Given the description of an element on the screen output the (x, y) to click on. 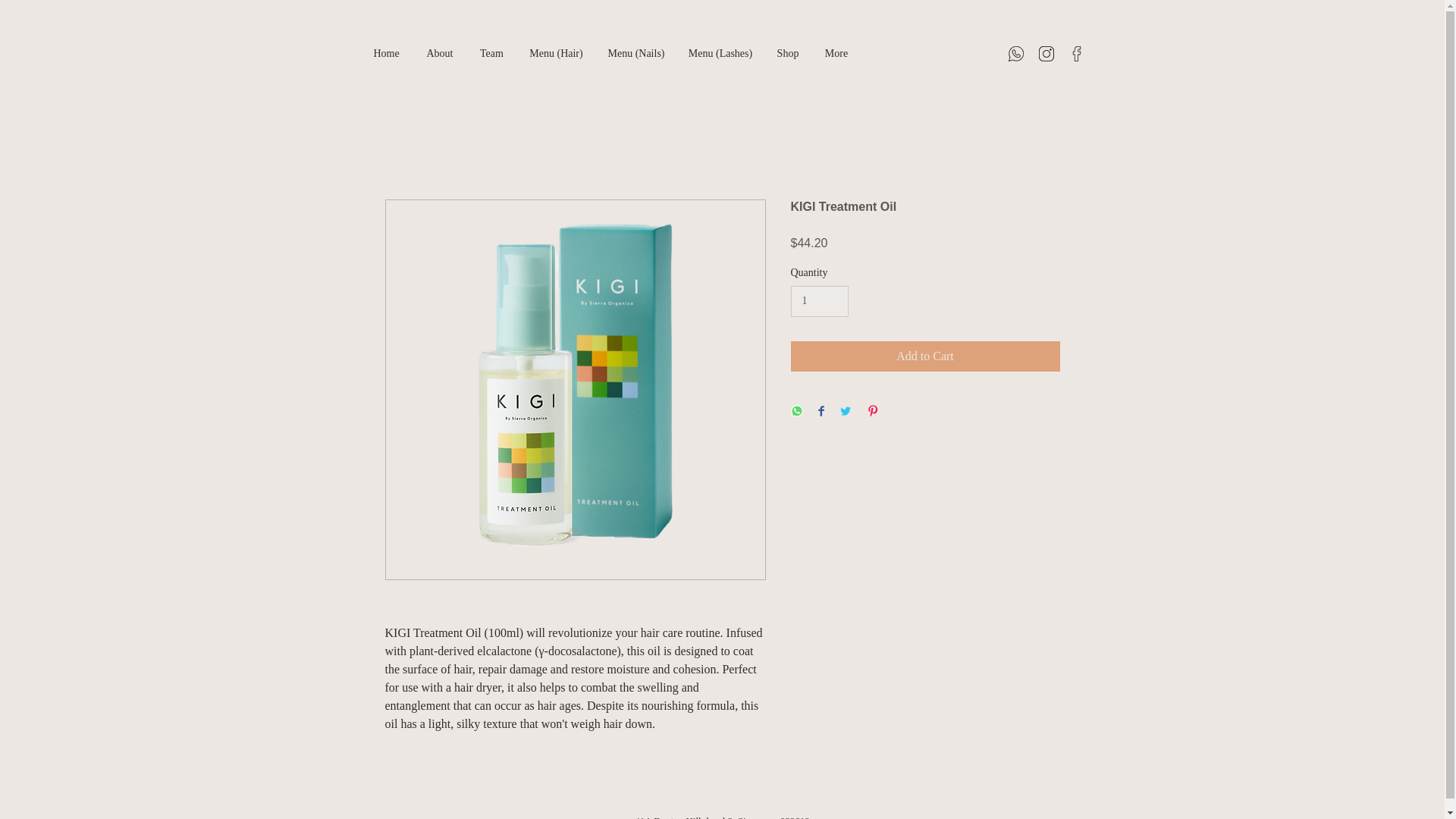
Shop (788, 53)
Home (385, 53)
Team (491, 53)
Add to Cart (924, 356)
1 (818, 300)
